Given the description of an element on the screen output the (x, y) to click on. 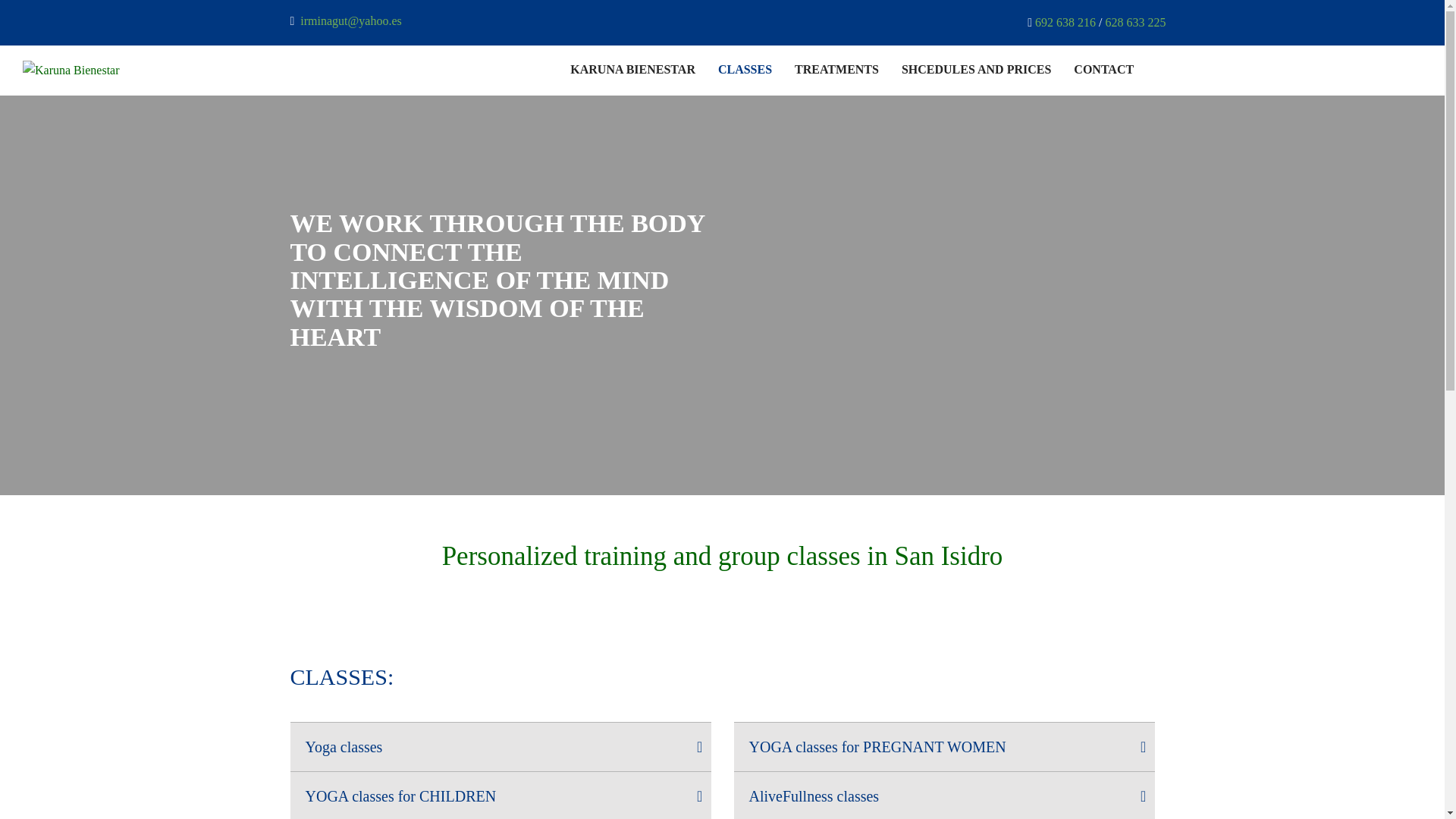
628 633 225 (1135, 21)
SHCEDULES AND PRICES (976, 70)
692 638 216 (1065, 21)
CONTACT (1104, 70)
TREATMENTS (836, 70)
KARUNA BIENESTAR (632, 70)
CLASSES (744, 70)
